Given the description of an element on the screen output the (x, y) to click on. 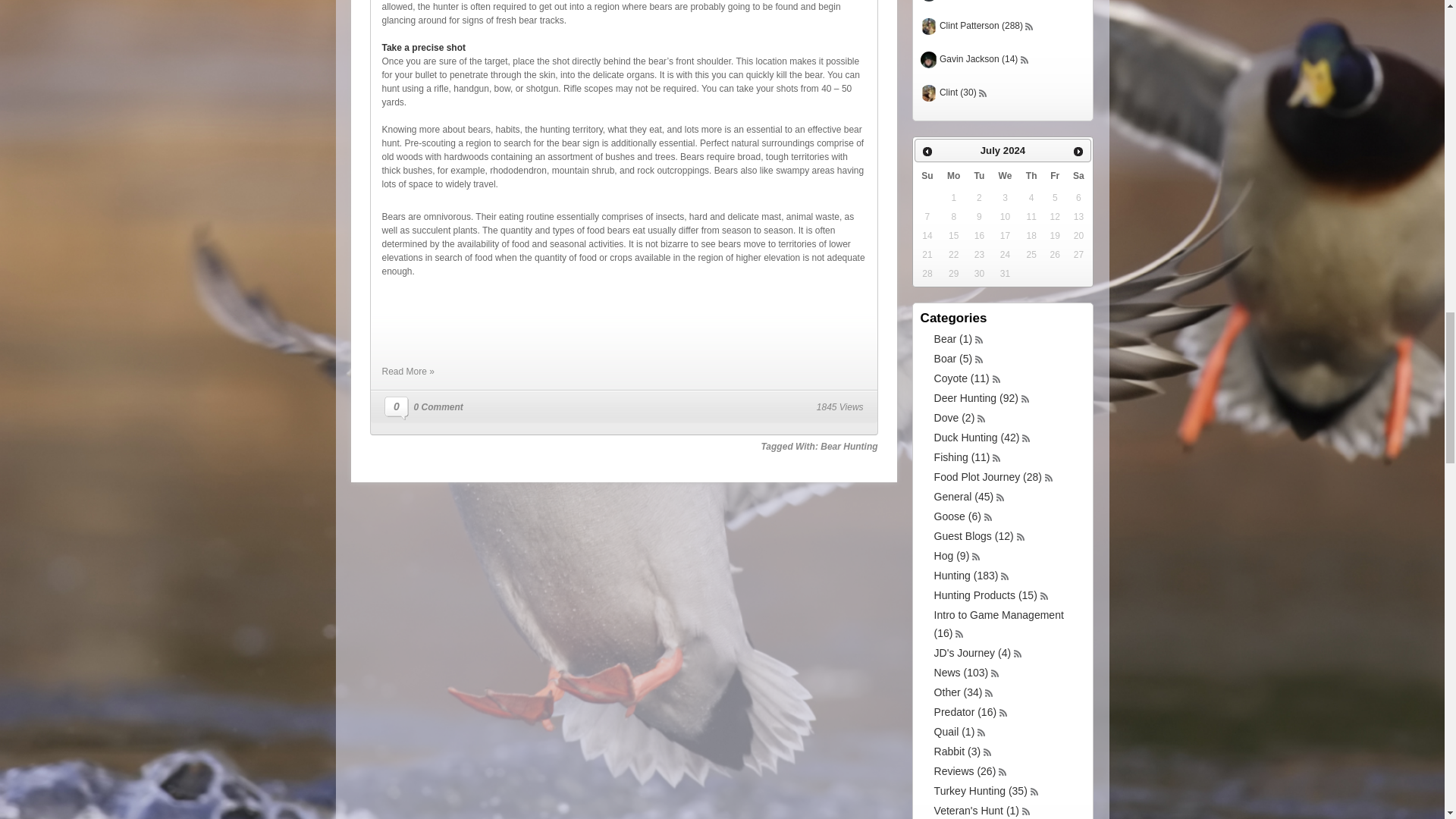
Thursday (1031, 175)
Tuesday (979, 175)
Bear Hunting (849, 446)
Wednesday (1004, 175)
Sunday (927, 175)
Next (1077, 151)
0 Comment (438, 407)
Monday (953, 175)
Prev (927, 151)
Friday (1054, 175)
